Given the description of an element on the screen output the (x, y) to click on. 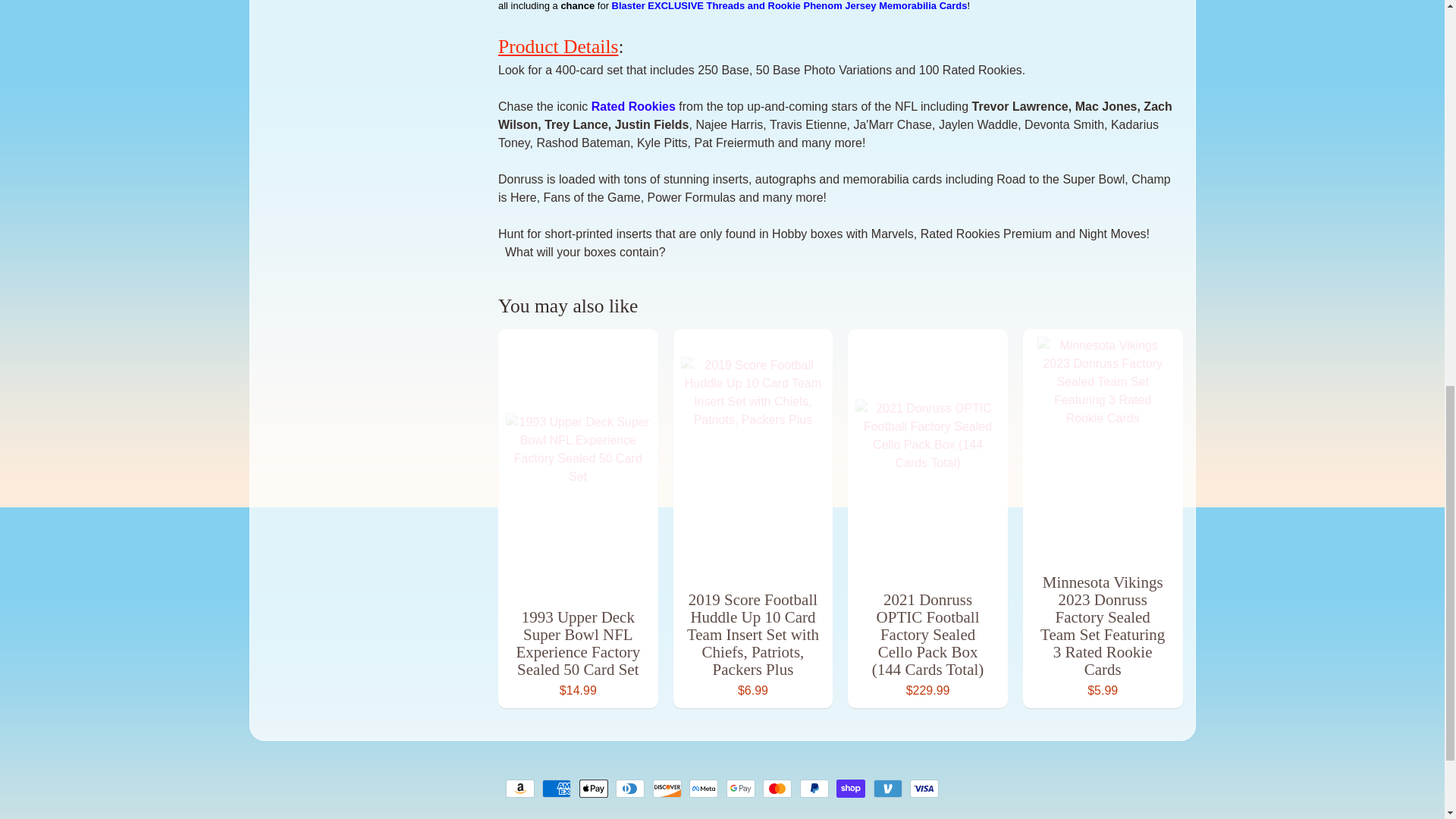
Diners Club (630, 788)
Shop Pay (849, 788)
American Express (555, 788)
Google Pay (740, 788)
Apple Pay (593, 788)
Visa (924, 788)
Discover (666, 788)
Amazon (519, 788)
Meta Pay (702, 788)
Mastercard (777, 788)
